Given the description of an element on the screen output the (x, y) to click on. 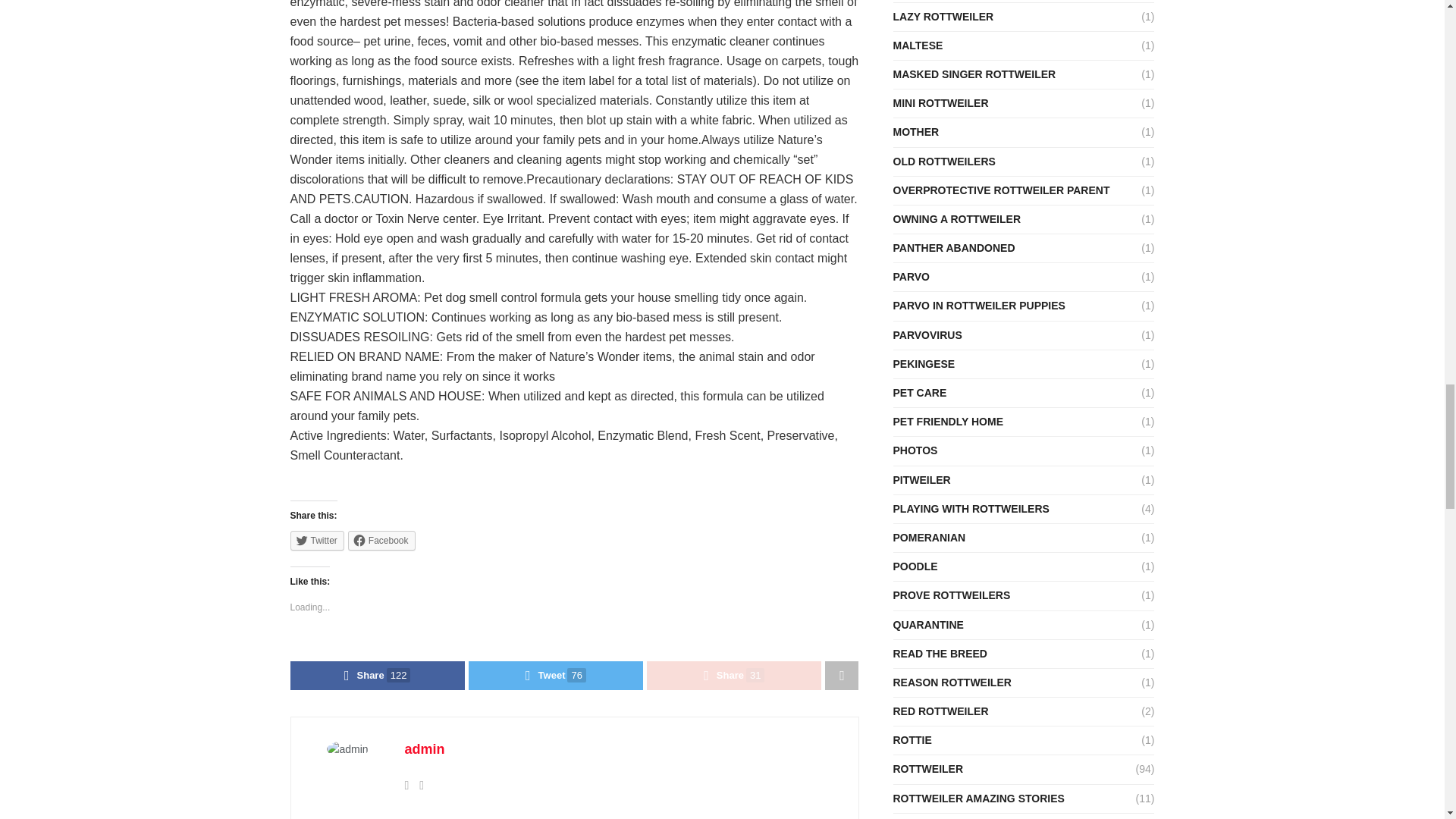
Facebook (380, 540)
Tweet76 (555, 675)
Twitter (316, 540)
Share31 (733, 675)
Share122 (376, 675)
admin (424, 749)
Click to share on Twitter (316, 540)
Click to share on Facebook (380, 540)
